Given the description of an element on the screen output the (x, y) to click on. 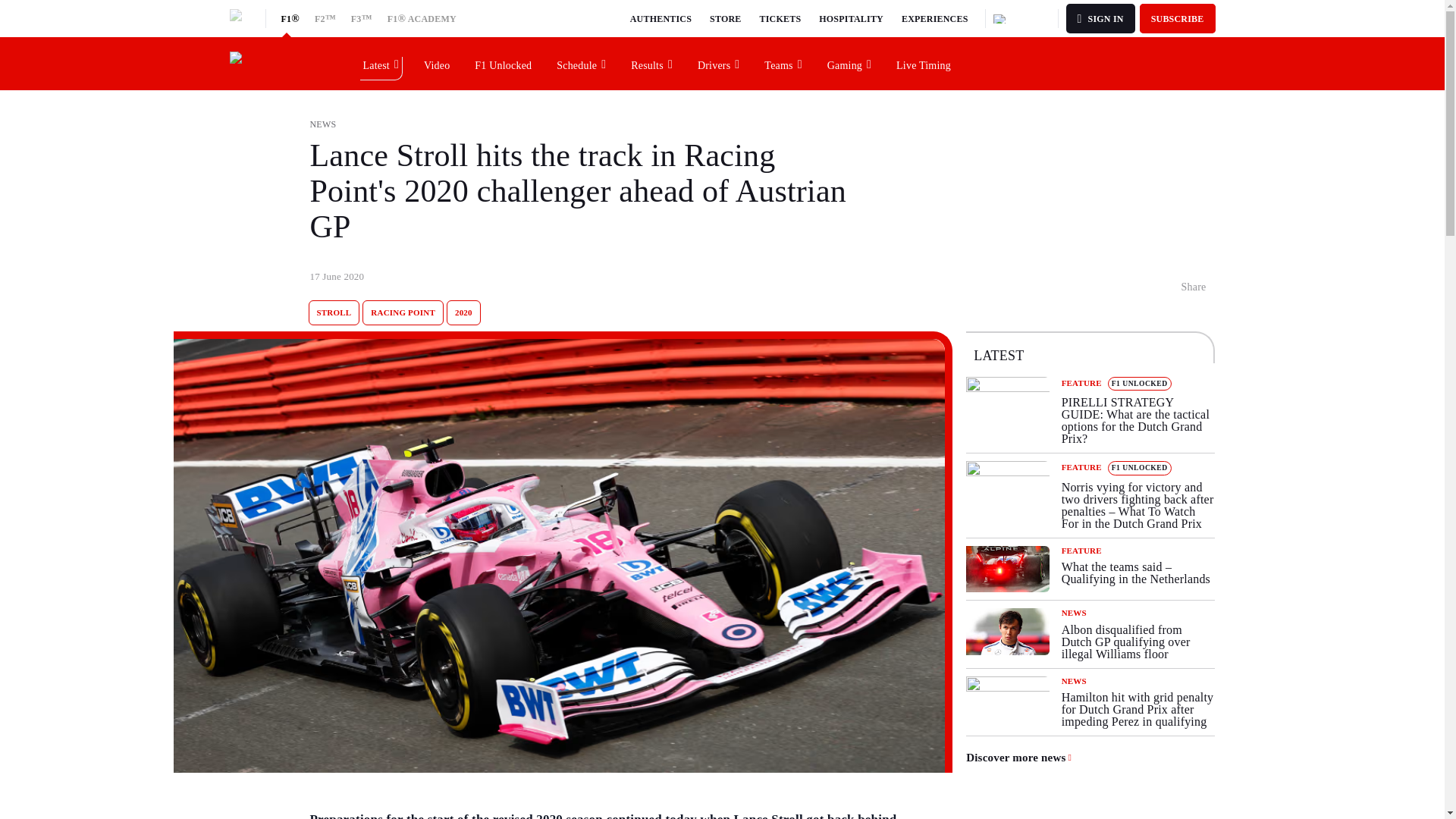
AUTHENTICS (660, 18)
Gaming (849, 63)
Latest (380, 63)
F1 Unlocked (503, 63)
Video (437, 63)
Schedule (581, 63)
Results (651, 63)
RACING POINT (403, 312)
Drivers (718, 63)
